Given the description of an element on the screen output the (x, y) to click on. 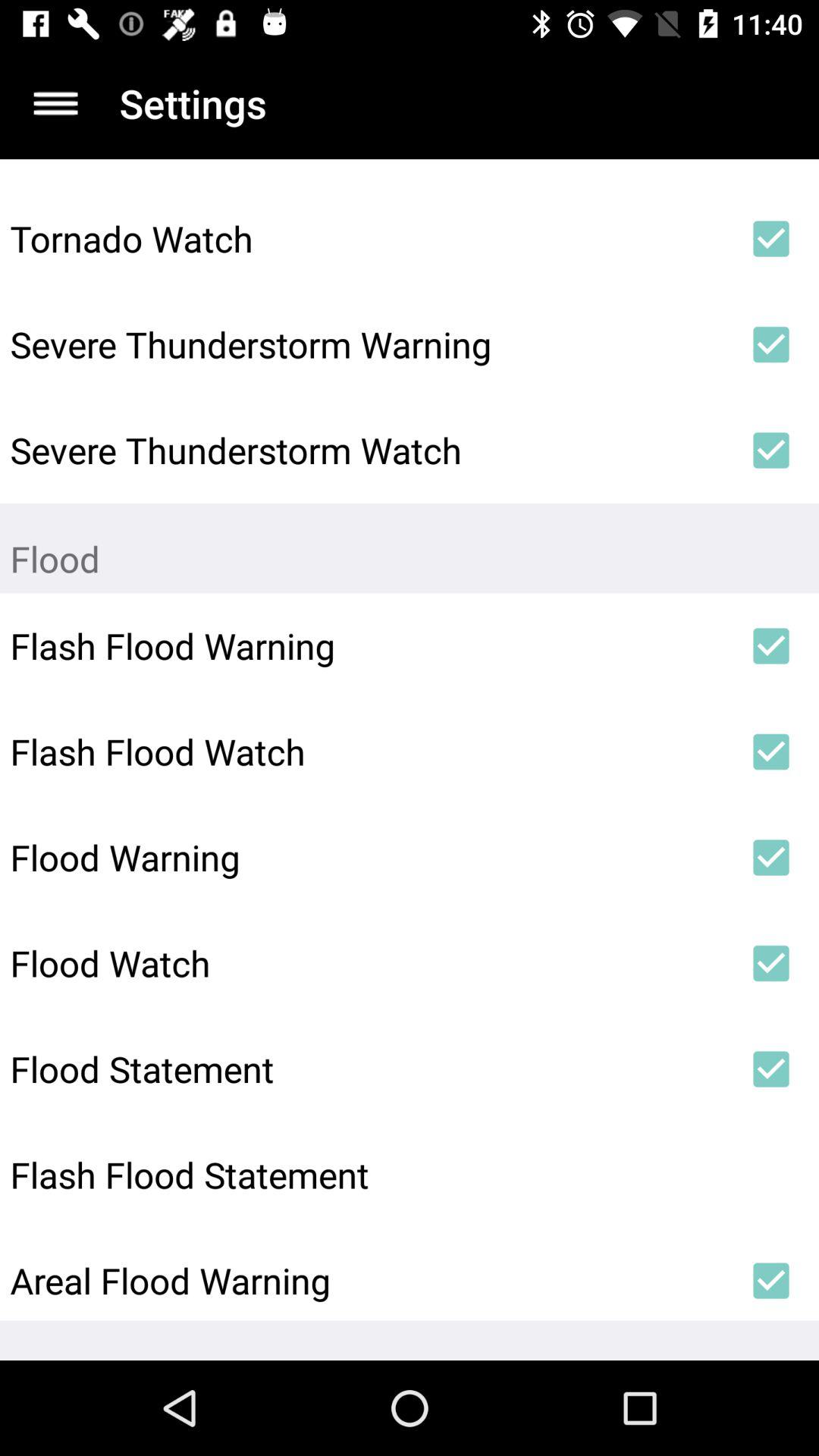
click app next to settings icon (55, 103)
